Given the description of an element on the screen output the (x, y) to click on. 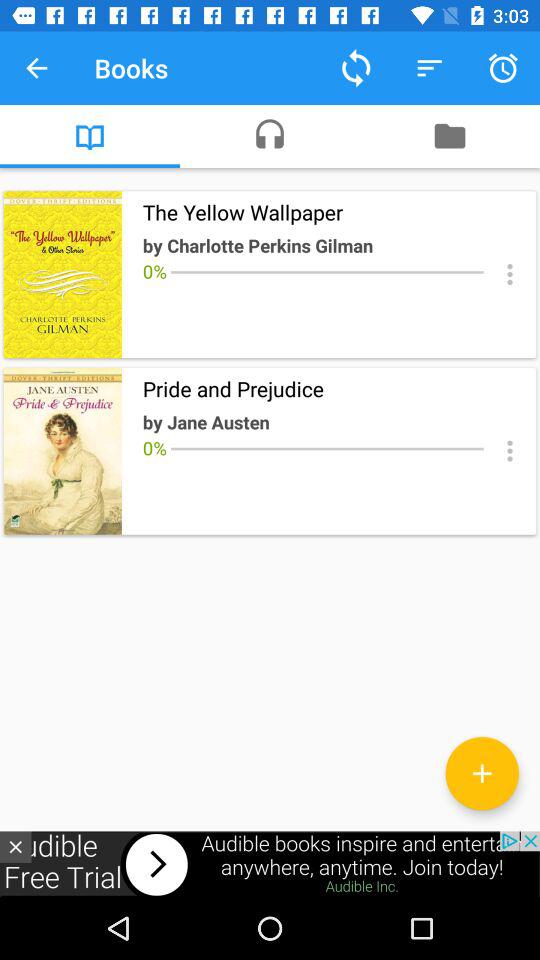
more information (509, 450)
